Given the description of an element on the screen output the (x, y) to click on. 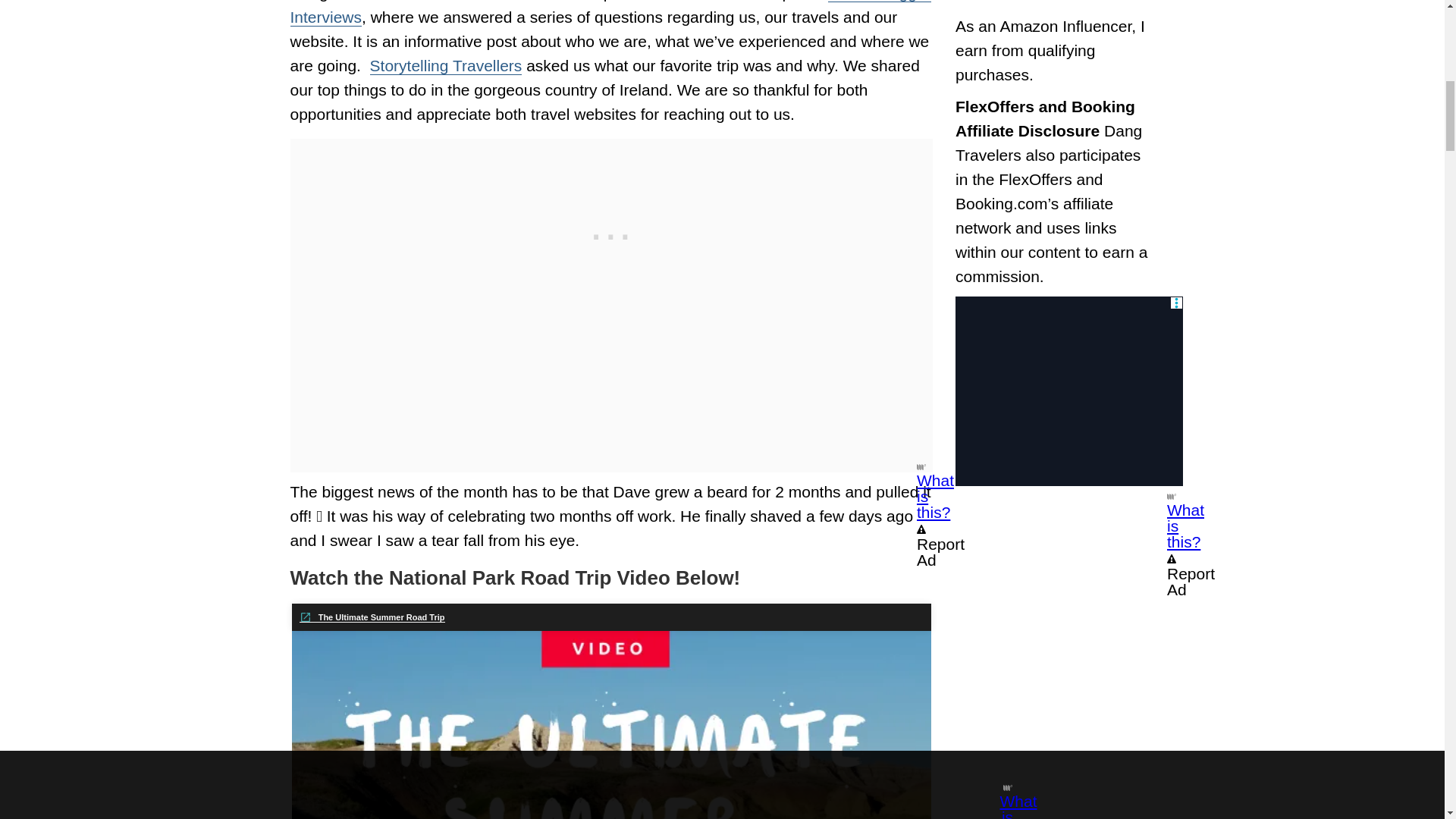
3rd party ad content (611, 233)
3rd party ad content (1068, 391)
